Given the description of an element on the screen output the (x, y) to click on. 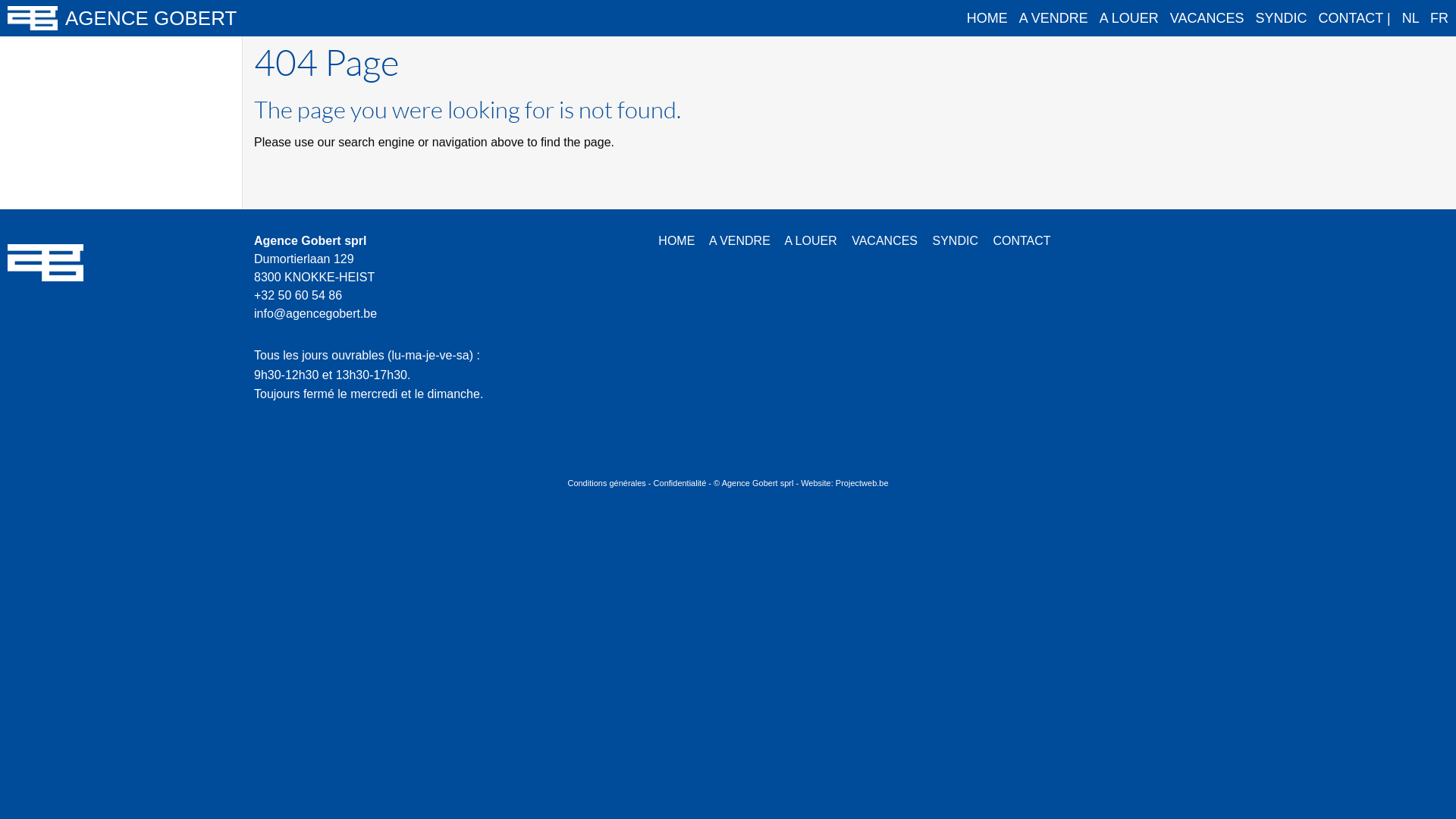
SYNDIC Element type: text (954, 240)
FR Element type: text (1439, 17)
SYNDIC Element type: text (1281, 17)
CONTACT Element type: text (1021, 240)
VACANCES Element type: text (1207, 17)
CONTACT Element type: text (1350, 17)
Website: Projectweb.be Element type: text (844, 482)
HOME Element type: text (986, 17)
A VENDRE Element type: text (1053, 17)
HOME Element type: text (676, 240)
VACANCES Element type: text (884, 240)
A LOUER Element type: text (1128, 17)
A LOUER Element type: text (810, 240)
A VENDRE Element type: text (739, 240)
NL Element type: text (1410, 17)
